Given the description of an element on the screen output the (x, y) to click on. 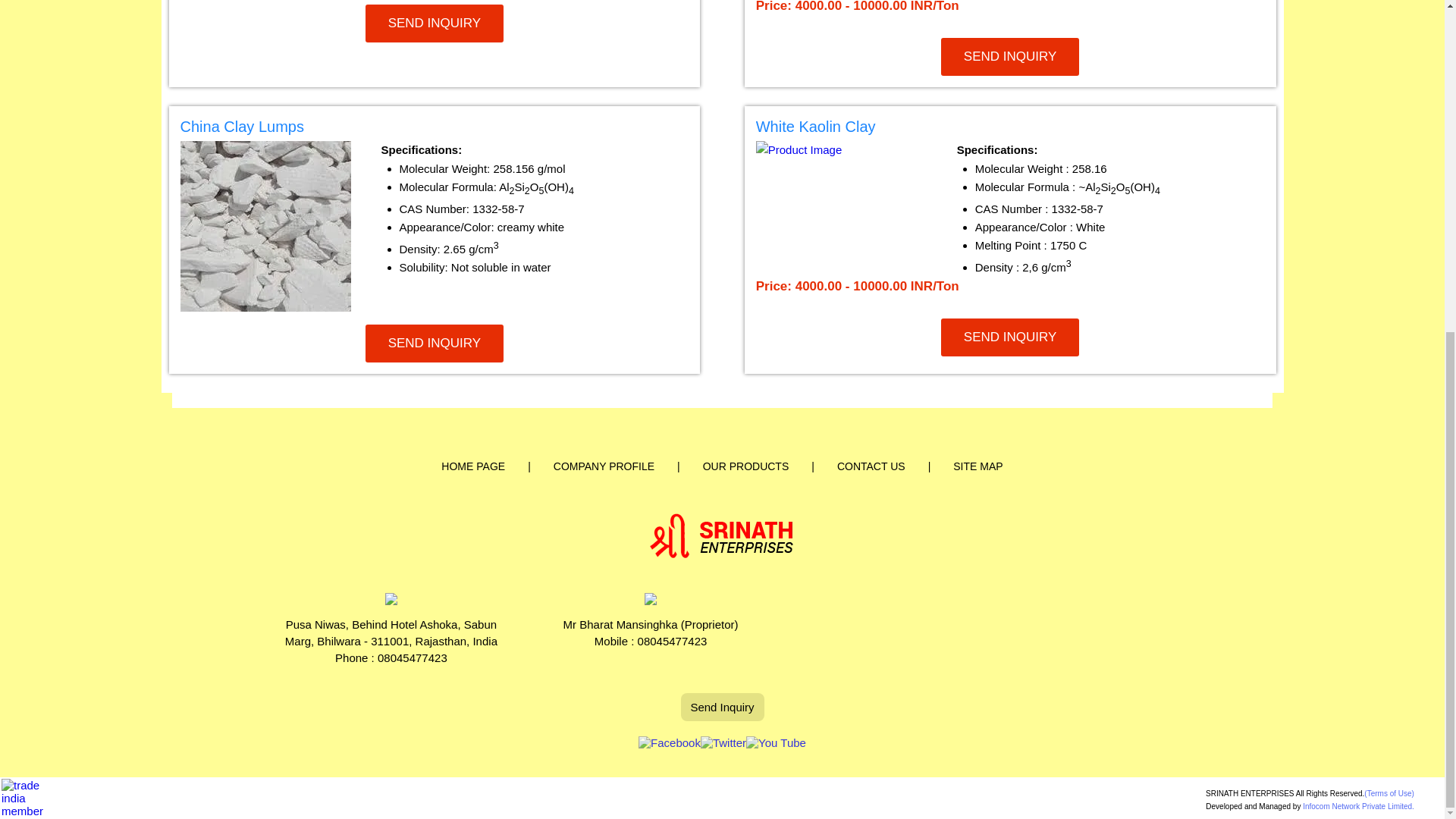
White Kaolin Clay (1010, 128)
Facebook (669, 742)
China Clay Lumps (434, 128)
You Tube (775, 742)
Twitter (722, 742)
Srinath Enterprises (721, 535)
